Given the description of an element on the screen output the (x, y) to click on. 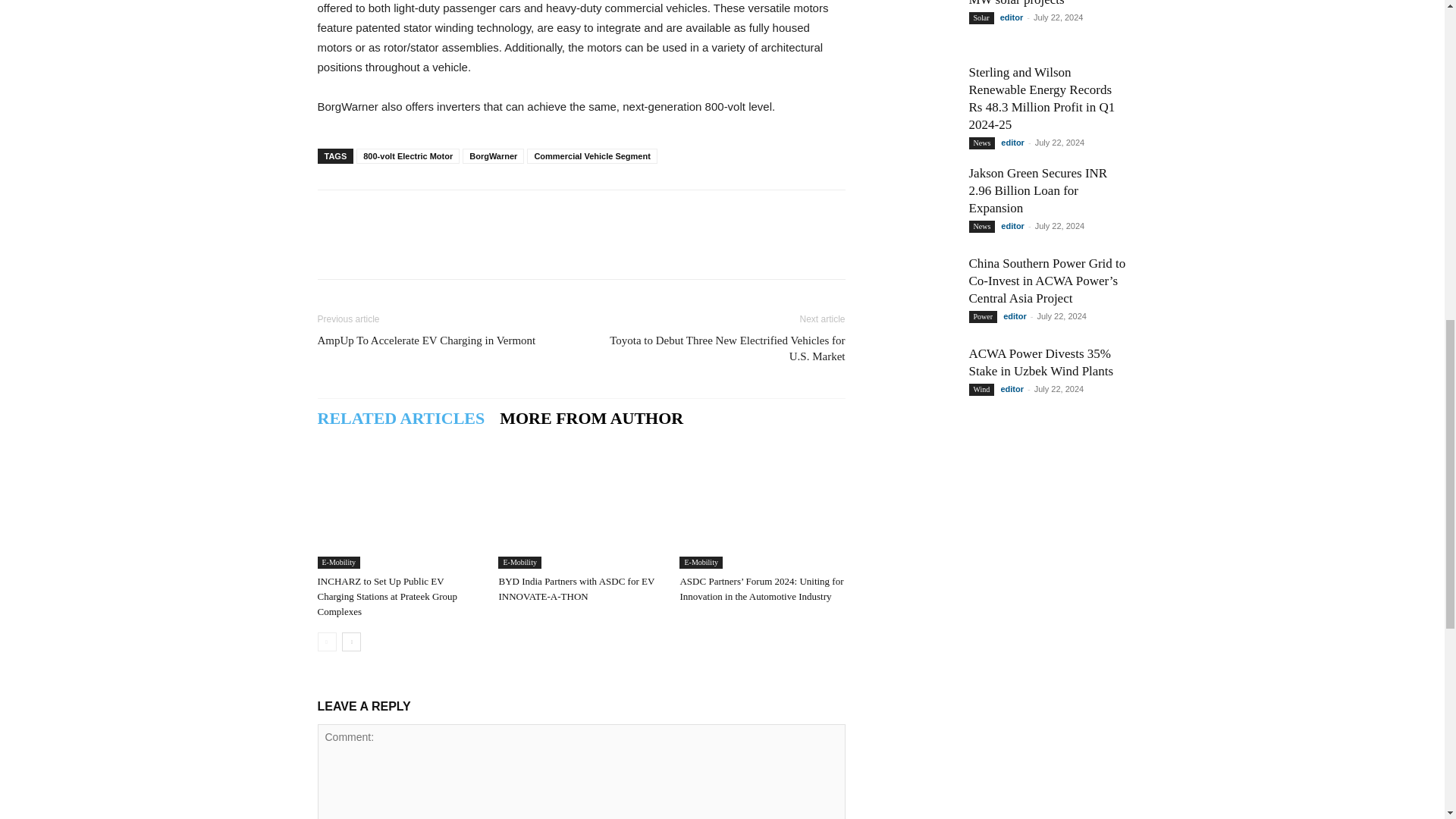
bottomFacebookLike (430, 213)
